Given the description of an element on the screen output the (x, y) to click on. 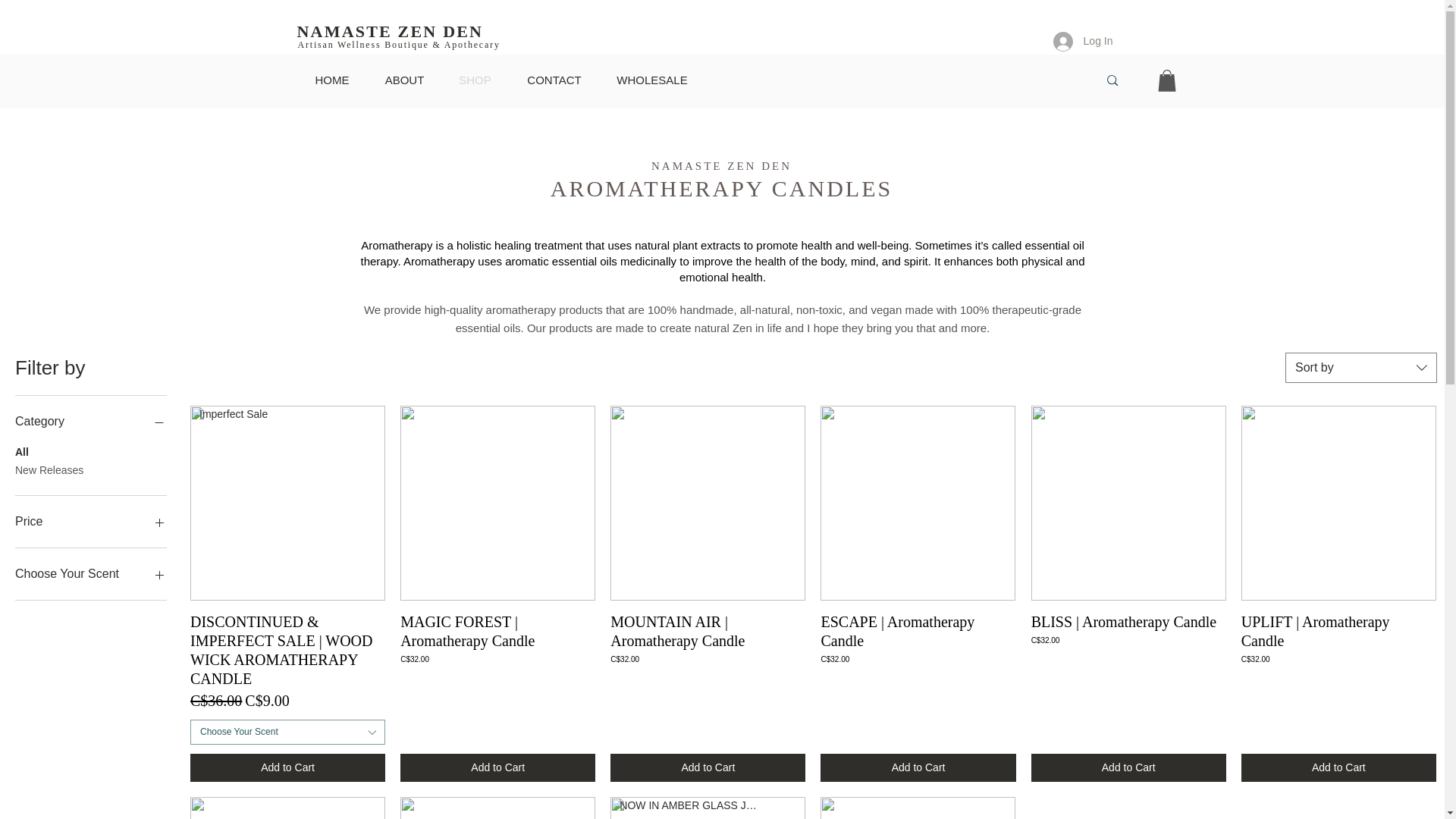
SHOP (474, 80)
Choose Your Scent (90, 573)
Add to Cart (287, 767)
Log In (1083, 41)
HOME (332, 80)
Sort by (1361, 367)
Choose Your Scent (287, 731)
Category (90, 421)
WHOLESALE (651, 80)
CONTACT (553, 80)
Price (90, 521)
Imperfect Sale (287, 502)
NAMASTE ZEN DEN (390, 31)
